Given the description of an element on the screen output the (x, y) to click on. 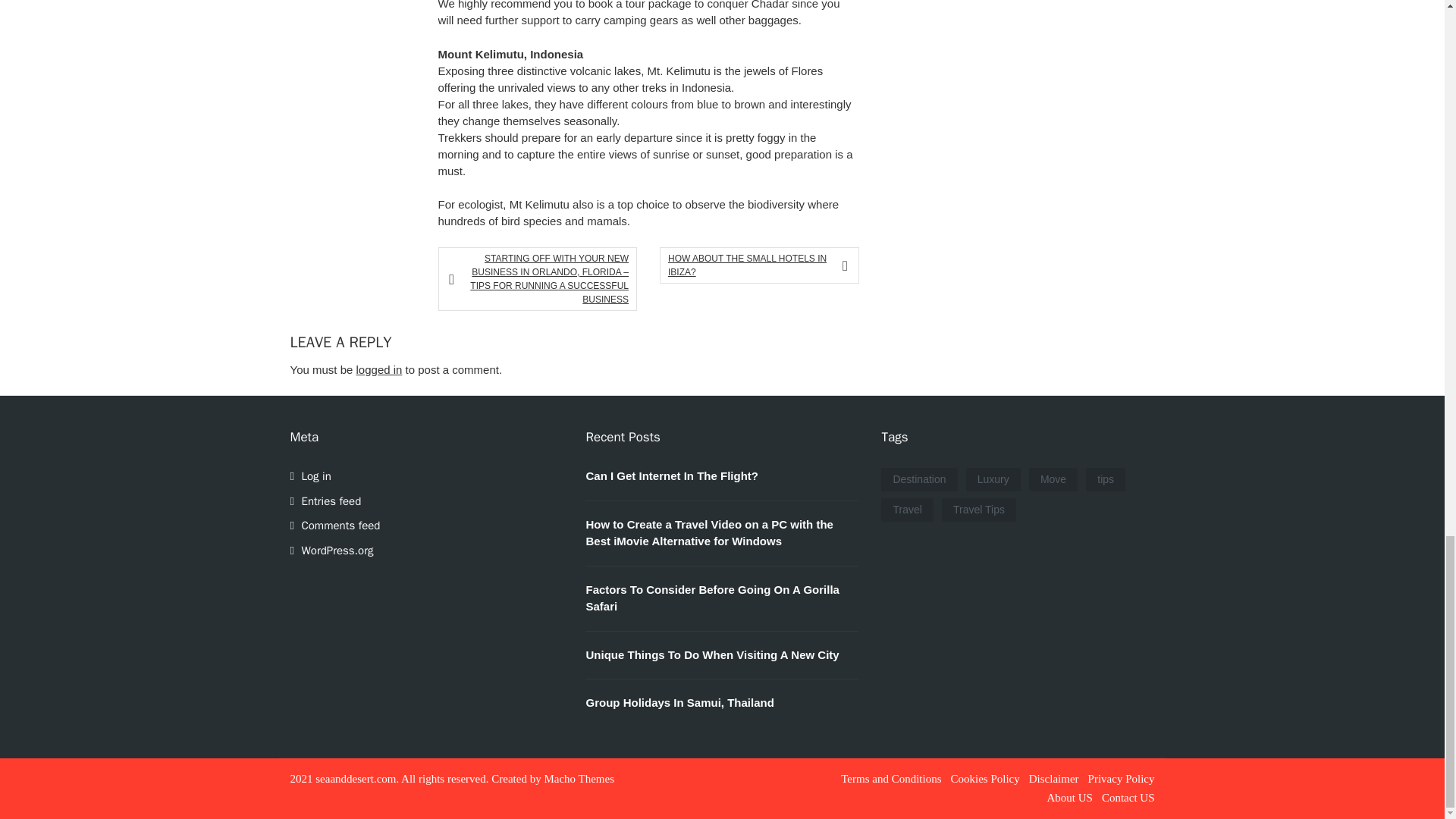
WordPress.org (337, 550)
logged in (379, 369)
Can I Get Internet In The Flight? (671, 475)
Professional WordPress Themes (578, 778)
Factors To Consider Before Going On A Gorilla Safari (711, 598)
Log in (316, 476)
Group Holidays In Samui, Thailand (679, 702)
Entries feed (331, 500)
HOW ABOUT THE SMALL HOTELS IN IBIZA? (754, 265)
